Given the description of an element on the screen output the (x, y) to click on. 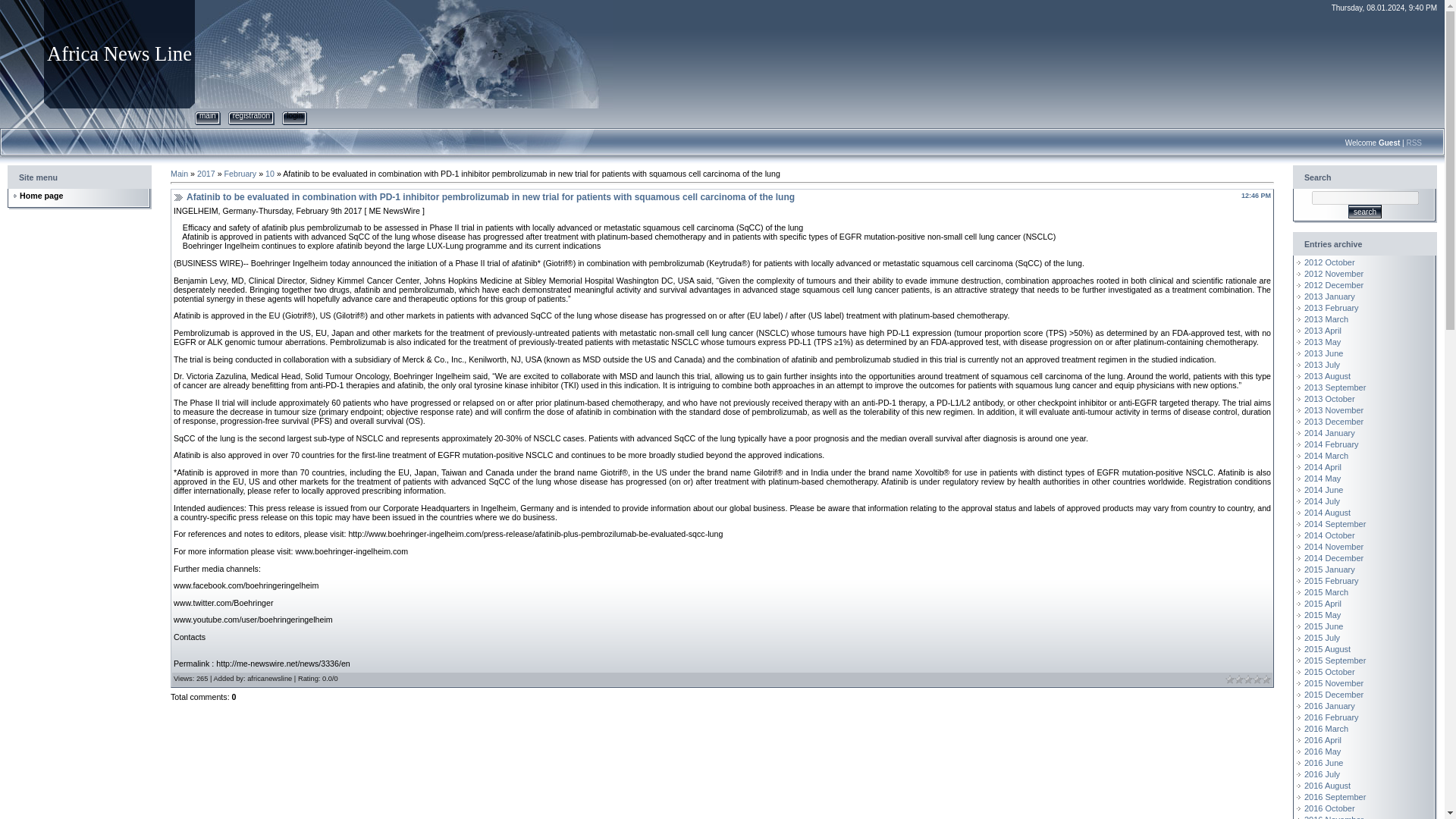
2013 October (1329, 398)
10 (269, 173)
africanewsline (269, 678)
5 (1266, 678)
2013 January (1329, 296)
2014 April (1322, 466)
2013 December (1333, 420)
RSS (1414, 142)
1 (1229, 678)
registration (250, 115)
February (240, 173)
2013 September (1334, 387)
2013 March (1326, 318)
2017 (205, 173)
2 (1238, 678)
